Given the description of an element on the screen output the (x, y) to click on. 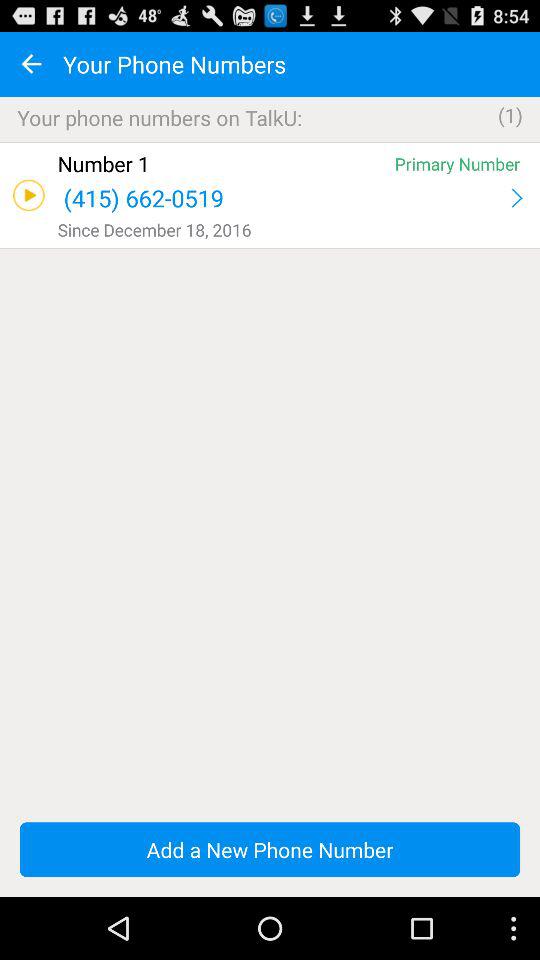
click primary number (457, 163)
